Given the description of an element on the screen output the (x, y) to click on. 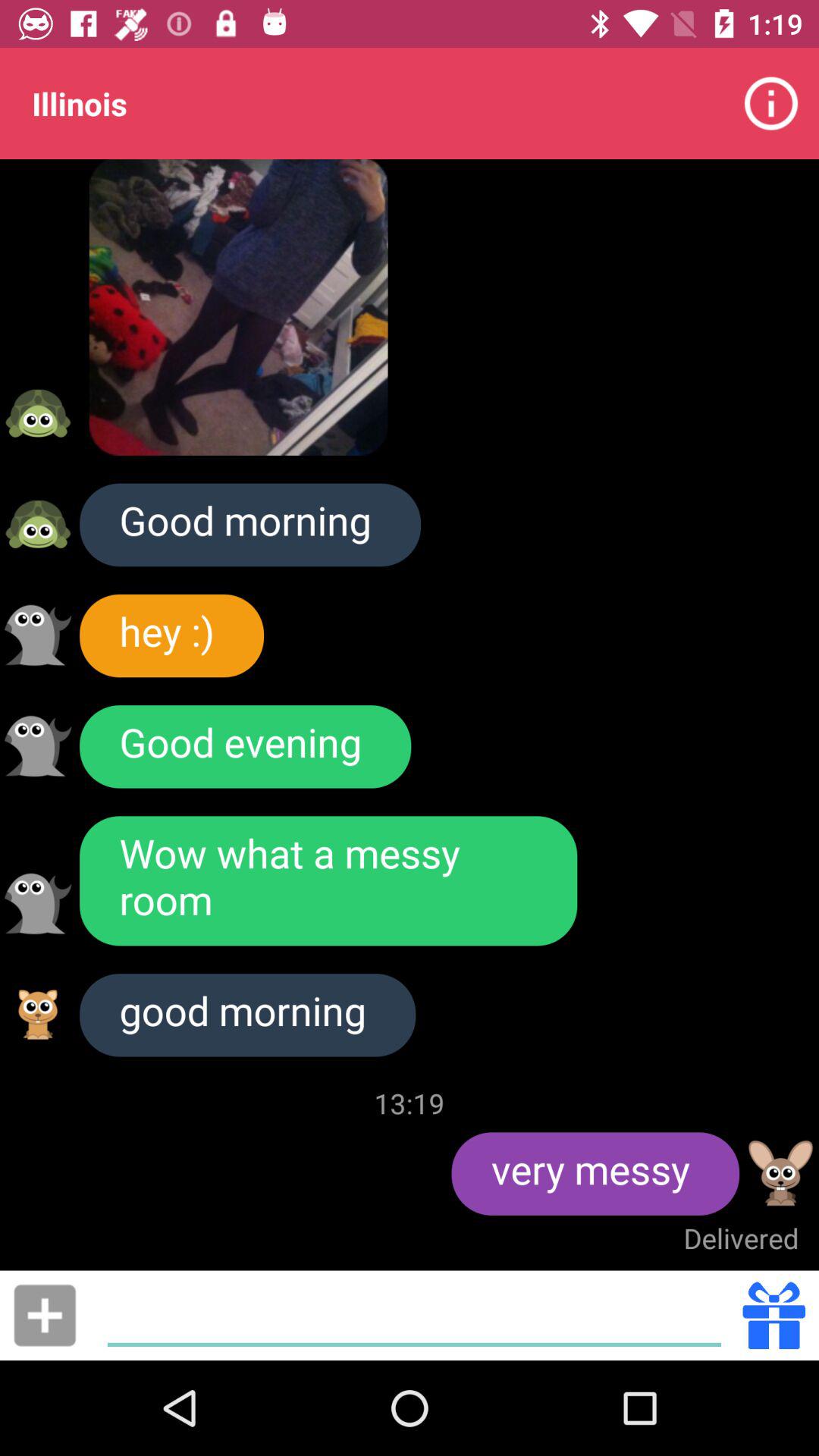
add feature (44, 1315)
